Given the description of an element on the screen output the (x, y) to click on. 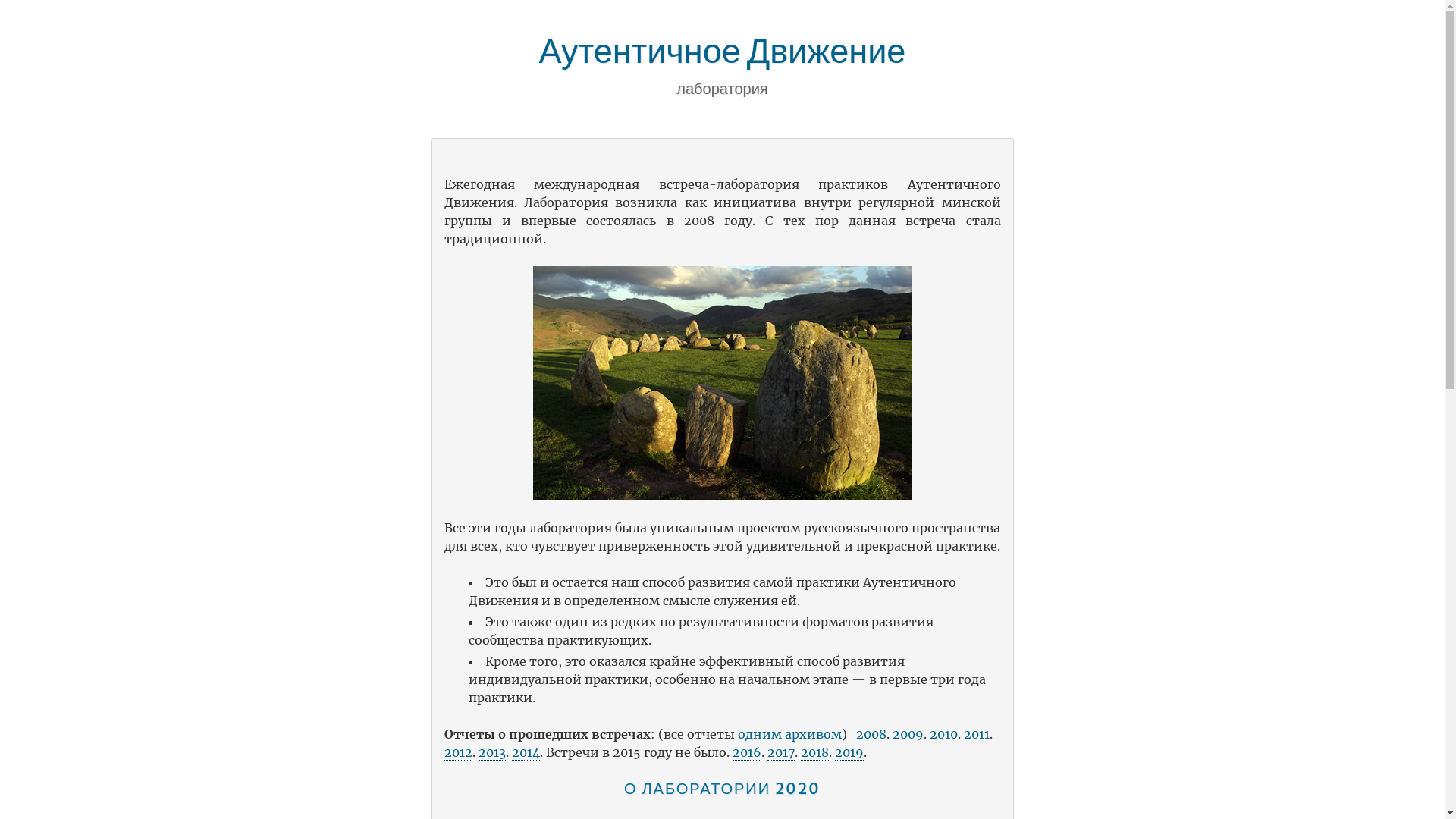
2012 Element type: text (458, 752)
2013 Element type: text (491, 752)
2009 Element type: text (906, 734)
2008 Element type: text (870, 734)
2010 Element type: text (943, 734)
2011 Element type: text (975, 734)
2018 Element type: text (814, 752)
2017 Element type: text (780, 752)
2014 Element type: text (525, 752)
2016 Element type: text (746, 752)
2019 Element type: text (848, 752)
